Given the description of an element on the screen output the (x, y) to click on. 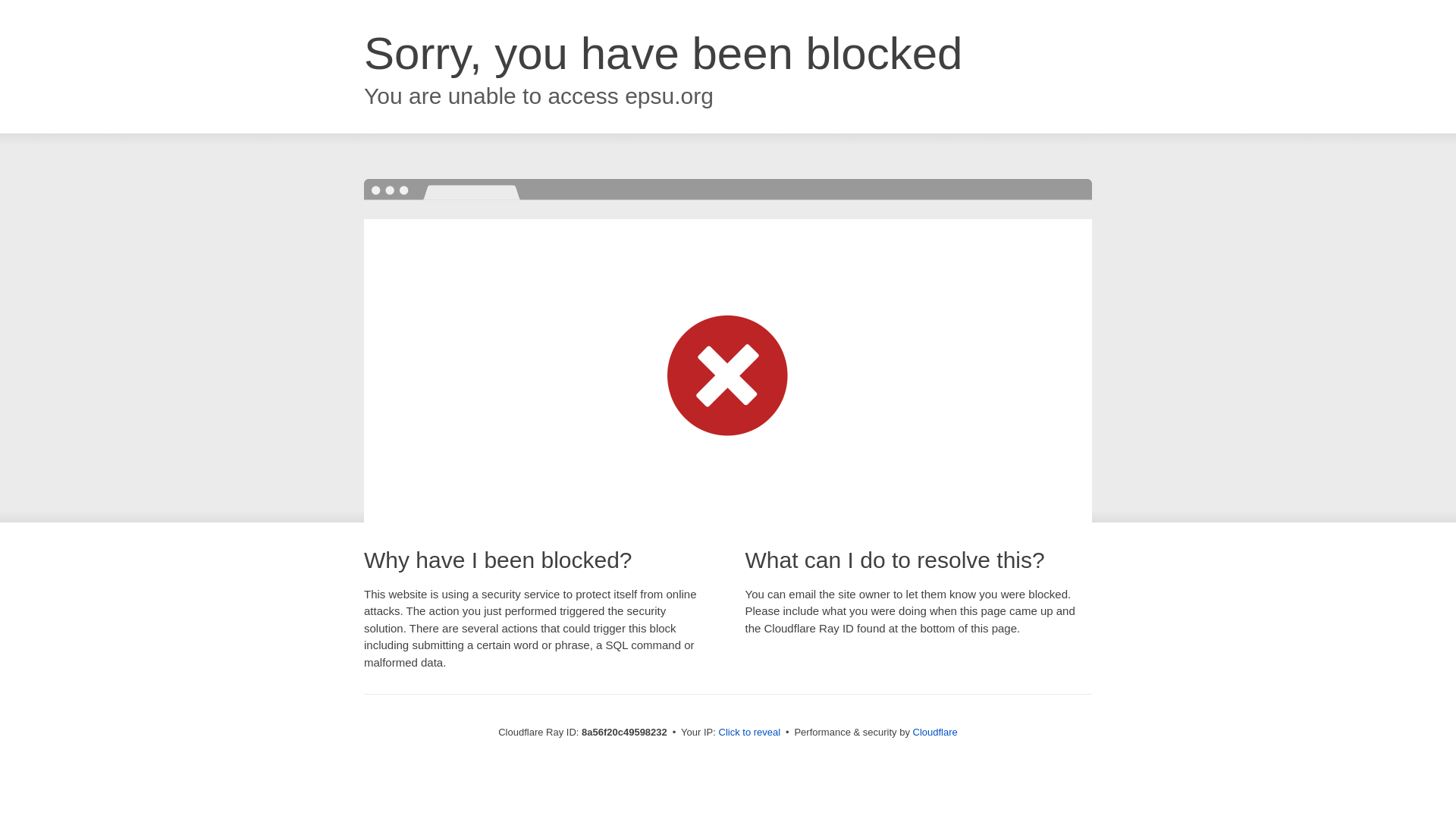
Cloudflare (935, 731)
Click to reveal (749, 732)
